Given the description of an element on the screen output the (x, y) to click on. 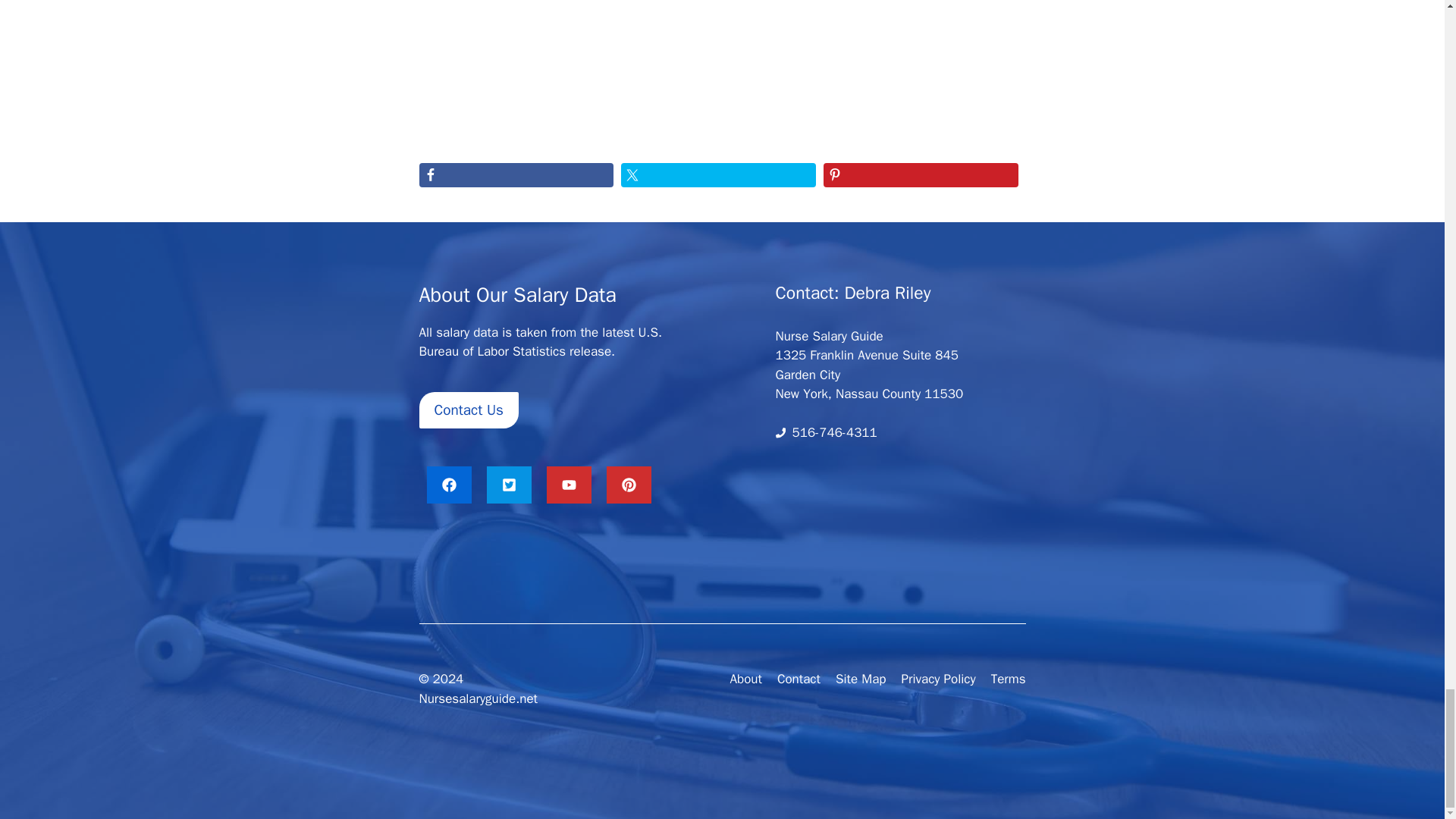
Contact (799, 679)
Share on Facebook (515, 174)
Contact Us (468, 410)
DMCA.com Protection Status (884, 582)
Privacy Policy (938, 679)
About (745, 679)
Terms (1008, 679)
Site Map (860, 679)
Share on Twitter (718, 174)
Share on Pinterest (920, 174)
